Given the description of an element on the screen output the (x, y) to click on. 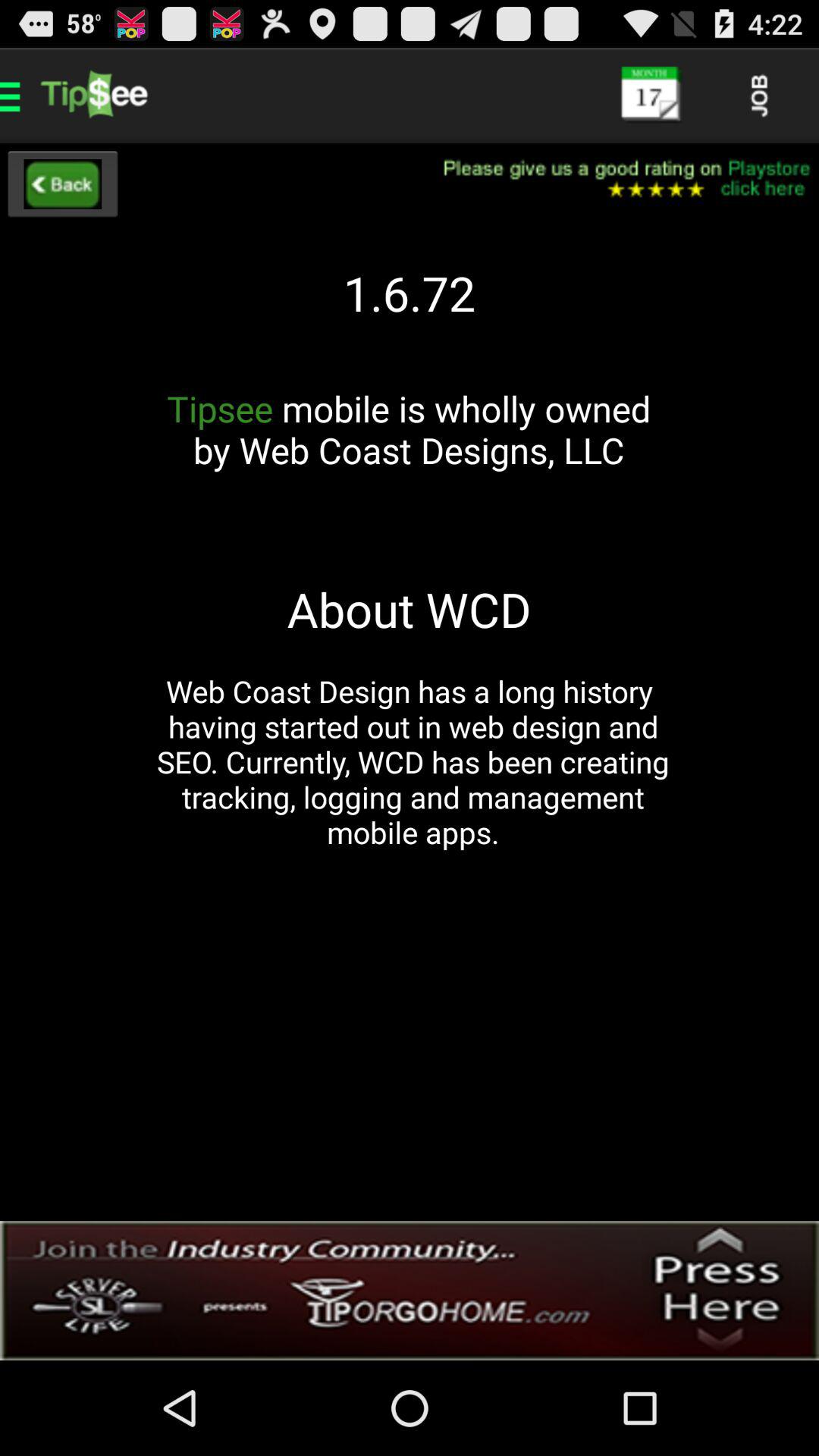
option to join a community (409, 1290)
